Given the description of an element on the screen output the (x, y) to click on. 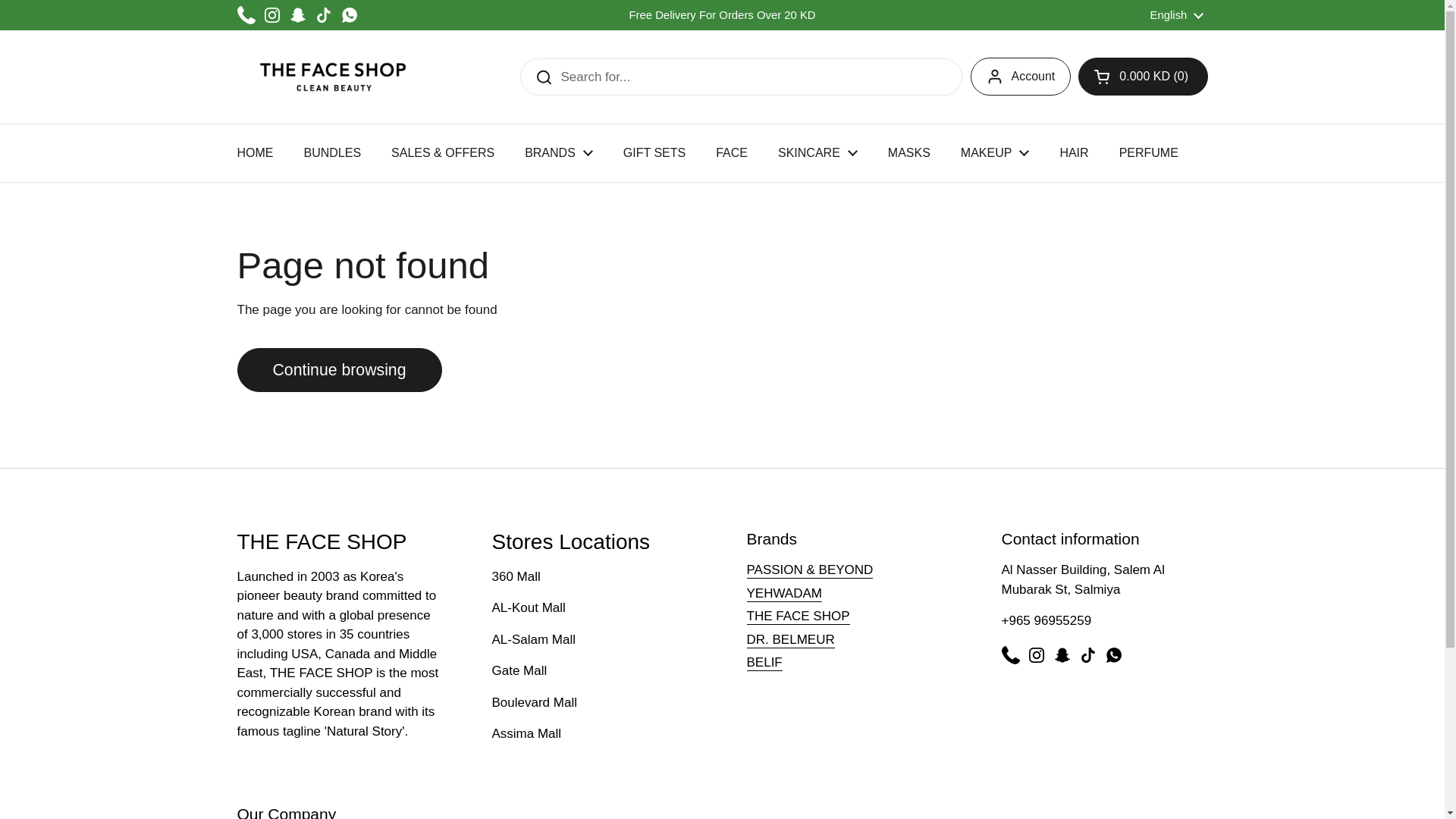
PERFUME (1148, 152)
HOME (254, 152)
BRANDS (558, 152)
SKINCARE (817, 152)
FACE (731, 152)
GIFT SETS (654, 152)
Snapchat (296, 14)
FACE (731, 152)
Instagram (271, 14)
MAKEUP (994, 152)
Open cart (1142, 76)
MASKS (908, 152)
Free Delivery For Orders Over 20 KD (721, 15)
HOME (254, 152)
